Given the description of an element on the screen output the (x, y) to click on. 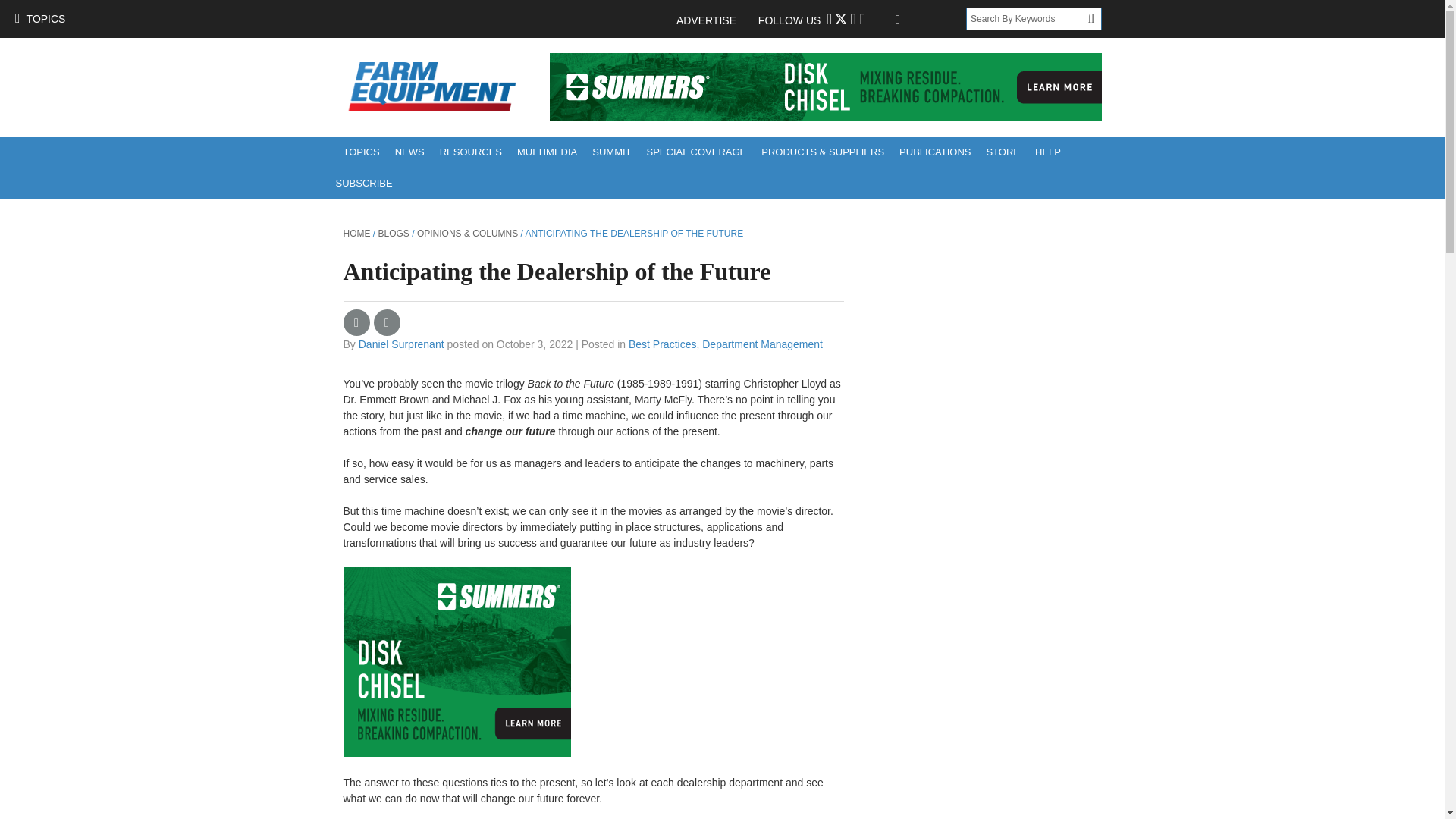
TOPICS (360, 151)
Summers Mfg (824, 87)
TOPICS (39, 18)
Summers Mfg (456, 661)
ADVERTISE (714, 20)
Search By Keywords (1026, 18)
Search By Keywords (1026, 18)
